Given the description of an element on the screen output the (x, y) to click on. 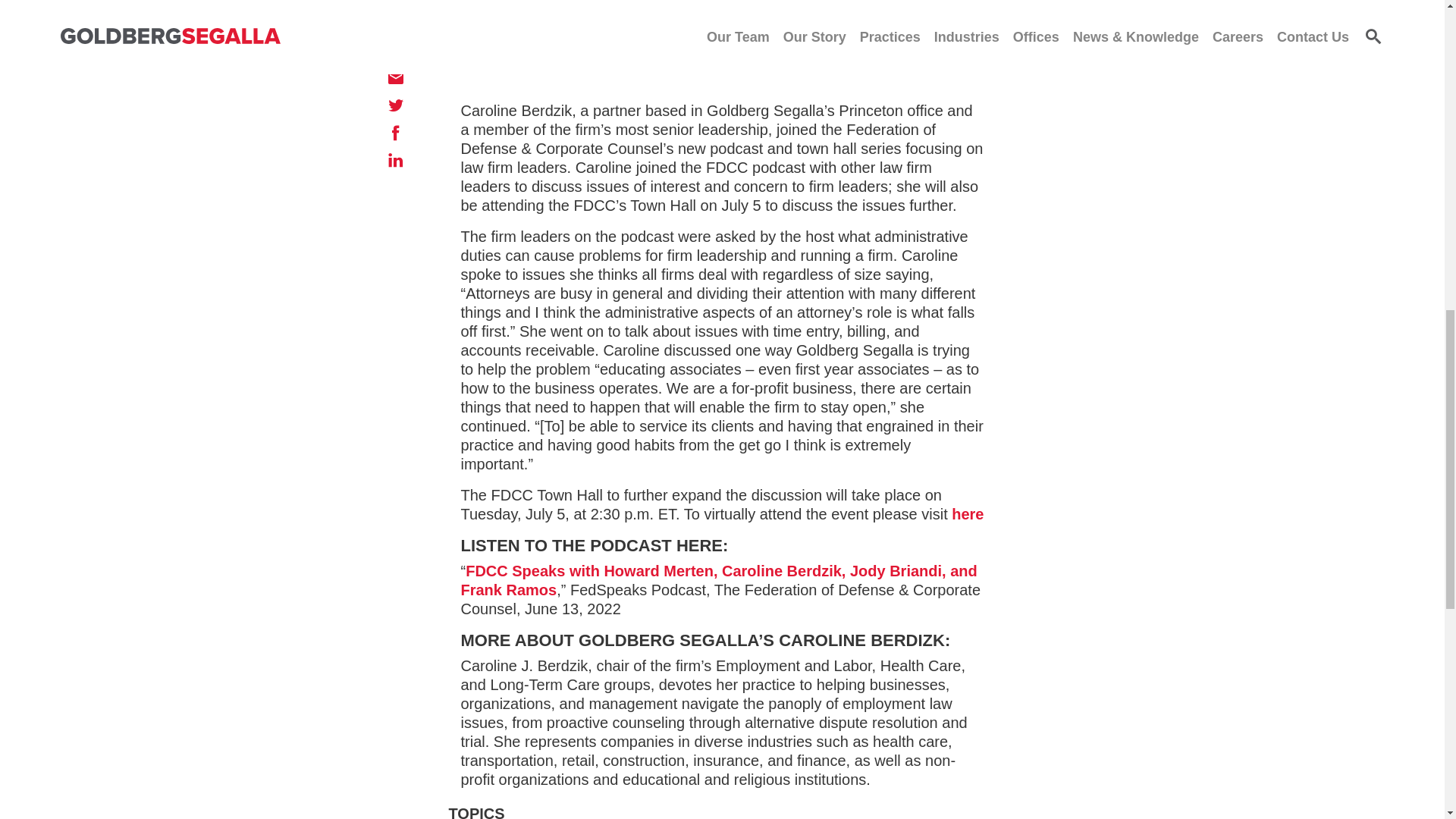
here (968, 514)
